Given the description of an element on the screen output the (x, y) to click on. 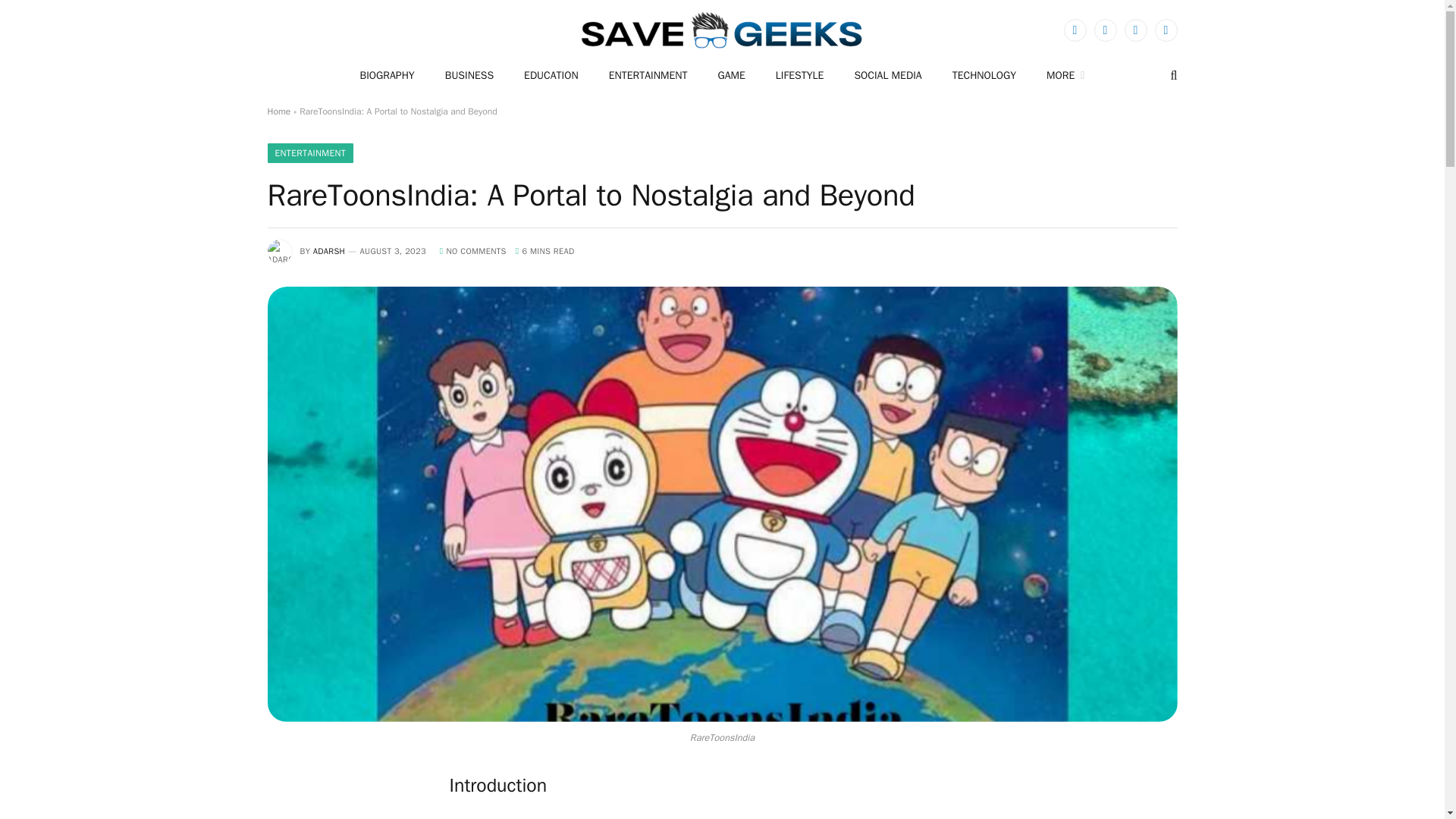
GAME (730, 75)
LIFESTYLE (800, 75)
EDUCATION (551, 75)
LinkedIn (1165, 29)
ENTERTAINMENT (648, 75)
ENTERTAINMENT (309, 152)
Facebook (1074, 29)
NO COMMENTS (472, 250)
Posts by adarsh (329, 250)
MORE (1064, 75)
ADARSH (329, 250)
BIOGRAPHY (387, 75)
BUSINESS (468, 75)
Home (277, 111)
Instagram (1135, 29)
